Given the description of an element on the screen output the (x, y) to click on. 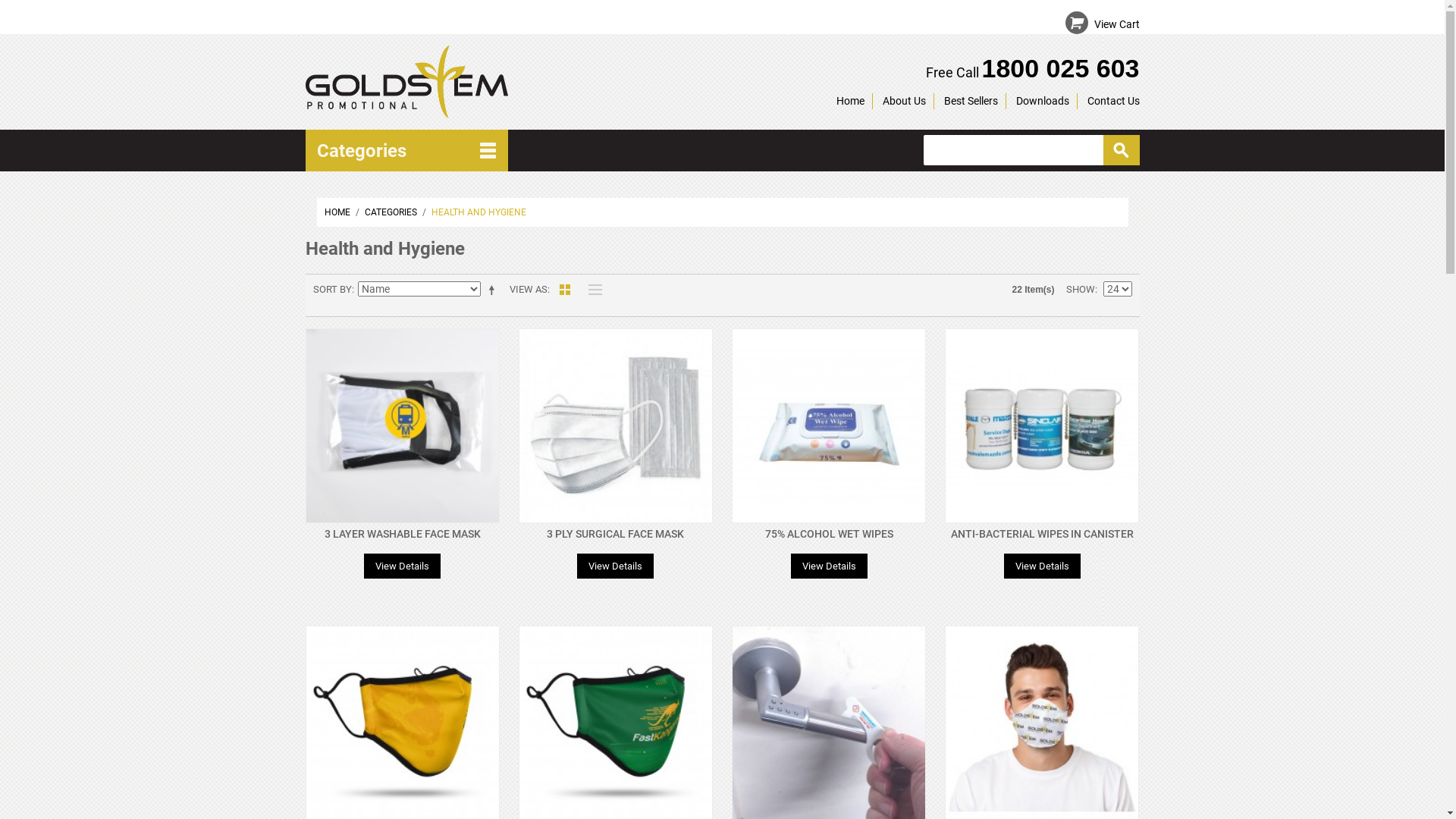
3 LAYER WASHABLE FACE MASK Element type: text (402, 533)
About Us Element type: text (903, 100)
3 PLY SURGICAL FACE MASK Element type: text (615, 533)
View Details Element type: text (402, 565)
Set Descending Direction Element type: text (493, 289)
3 Layer Washable Face Mask Element type: hover (401, 425)
75% Alcohol Wet Wipes Element type: hover (828, 425)
View Details Element type: text (1042, 565)
75% ALCOHOL WET WIPES Element type: text (829, 533)
Contact Us Element type: text (1113, 100)
View Cart Element type: text (1116, 24)
Downloads Element type: text (1042, 100)
Anti-Bacterial Wipes in Canister Element type: hover (1041, 425)
1800 025 603 Element type: text (1060, 67)
3 Ply Surgical Face Mask Element type: hover (615, 425)
Search Element type: hover (1120, 149)
Best Sellers Element type: text (970, 100)
List Element type: text (590, 289)
View Details Element type: text (615, 565)
Home Element type: text (849, 100)
ANTI-BACTERIAL WIPES IN CANISTER Element type: text (1041, 533)
CATEGORIES Element type: text (390, 212)
Categories Element type: text (405, 150)
HOME Element type: text (337, 212)
View Details Element type: text (828, 565)
